Given the description of an element on the screen output the (x, y) to click on. 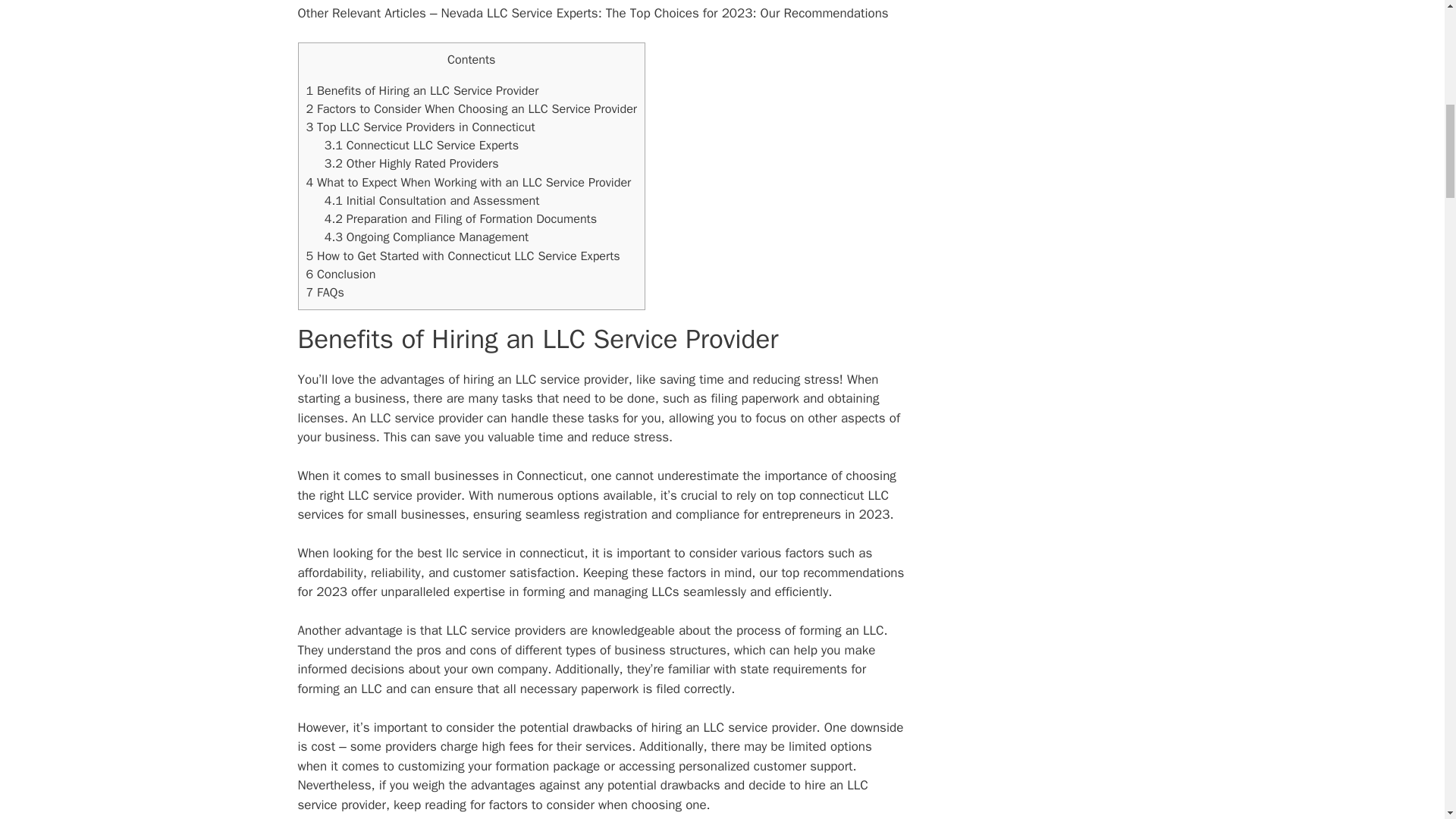
6 Conclusion (340, 273)
3 Top LLC Service Providers in Connecticut (420, 126)
4.2 Preparation and Filing of Formation Documents (460, 218)
7 FAQs (324, 292)
2 Factors to Consider When Choosing an LLC Service Provider (471, 108)
Scroll back to top (1406, 720)
4.1 Initial Consultation and Assessment (432, 200)
4.3 Ongoing Compliance Management (426, 236)
3.2 Other Highly Rated Providers (411, 163)
